Given the description of an element on the screen output the (x, y) to click on. 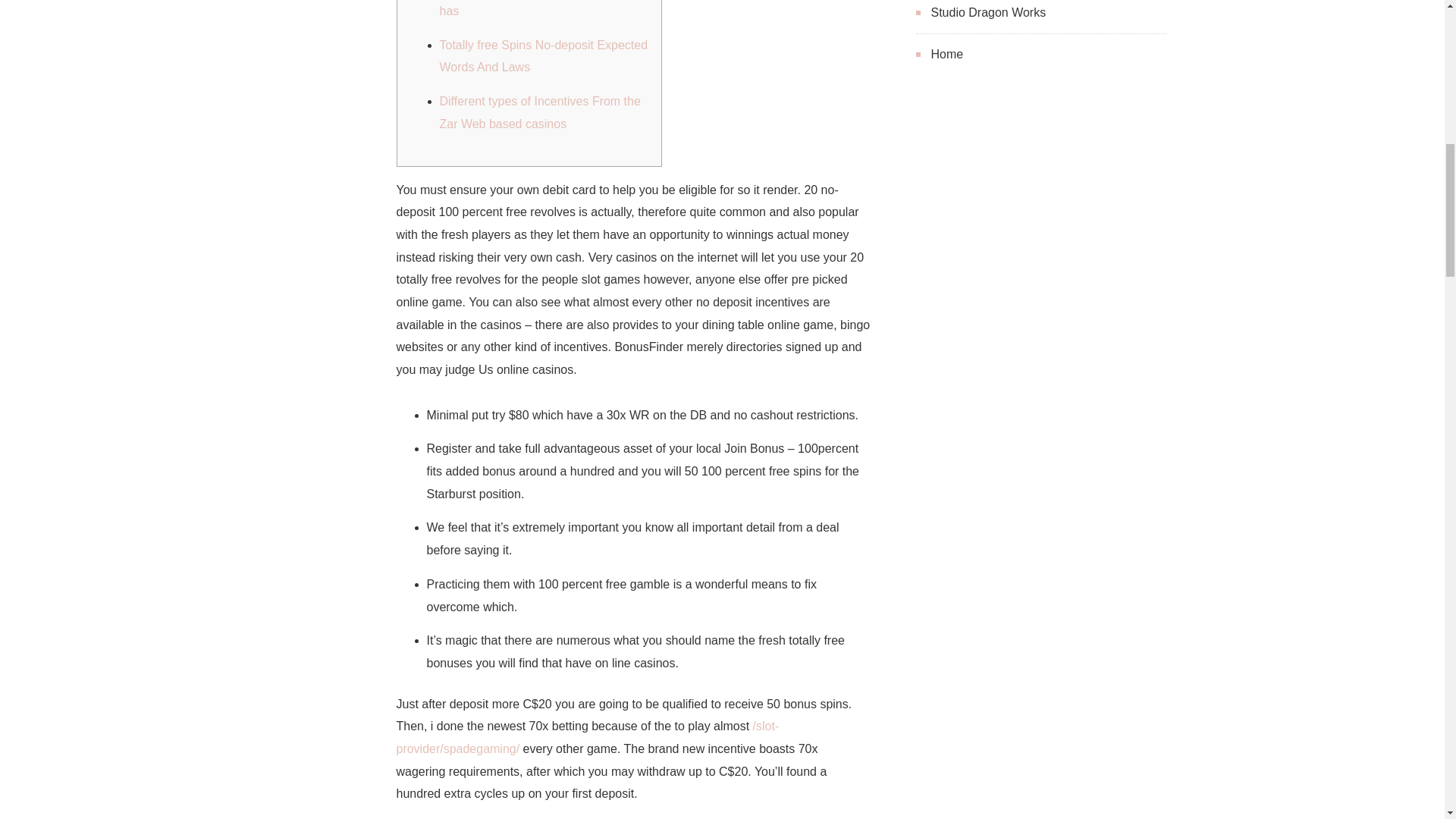
Different types of Incentives From the Zar Web based casinos (539, 112)
Totally free Spins No-deposit Expected Words And Laws (543, 56)
